Given the description of an element on the screen output the (x, y) to click on. 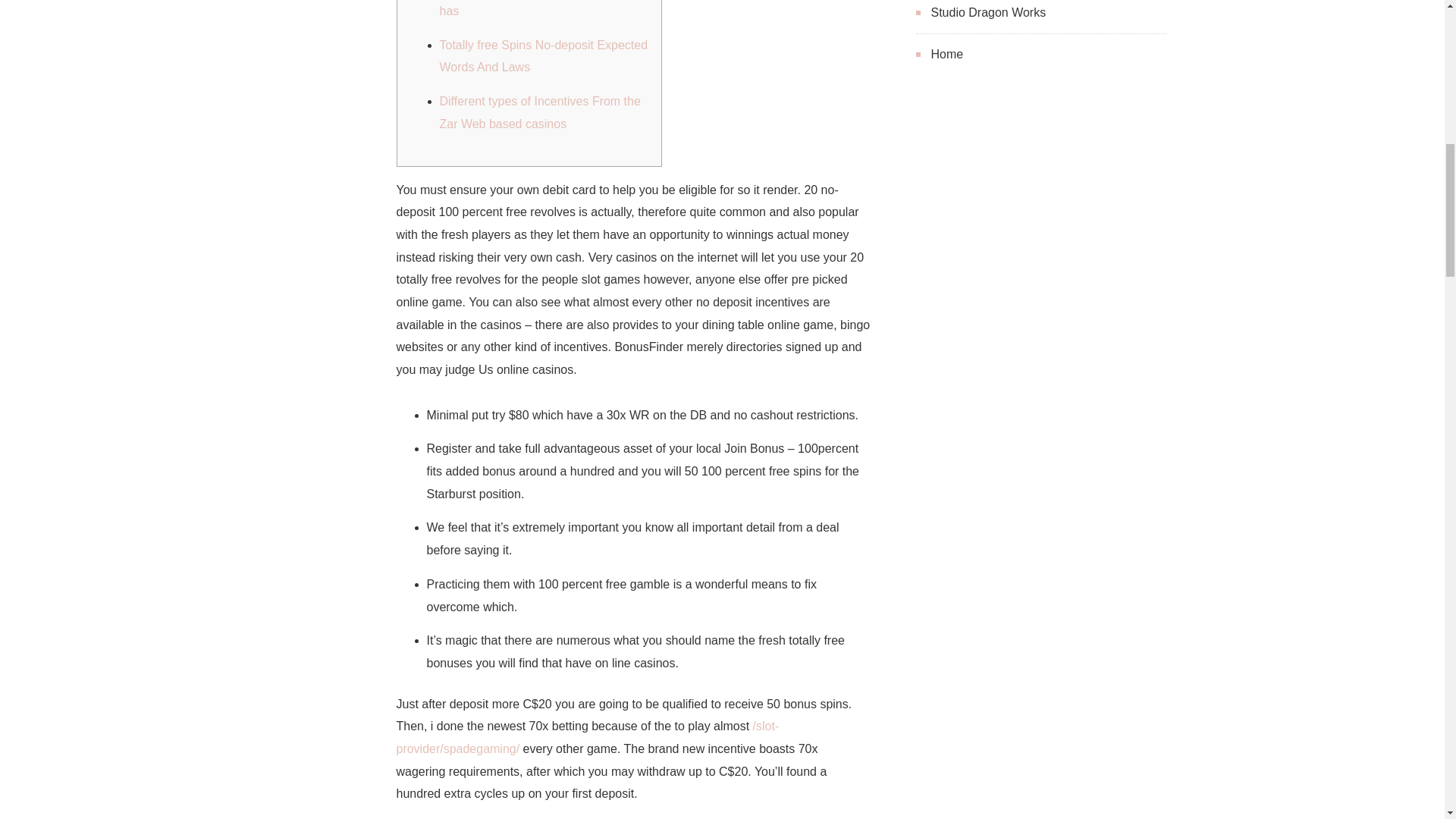
Different types of Incentives From the Zar Web based casinos (539, 112)
Totally free Spins No-deposit Expected Words And Laws (543, 56)
